Given the description of an element on the screen output the (x, y) to click on. 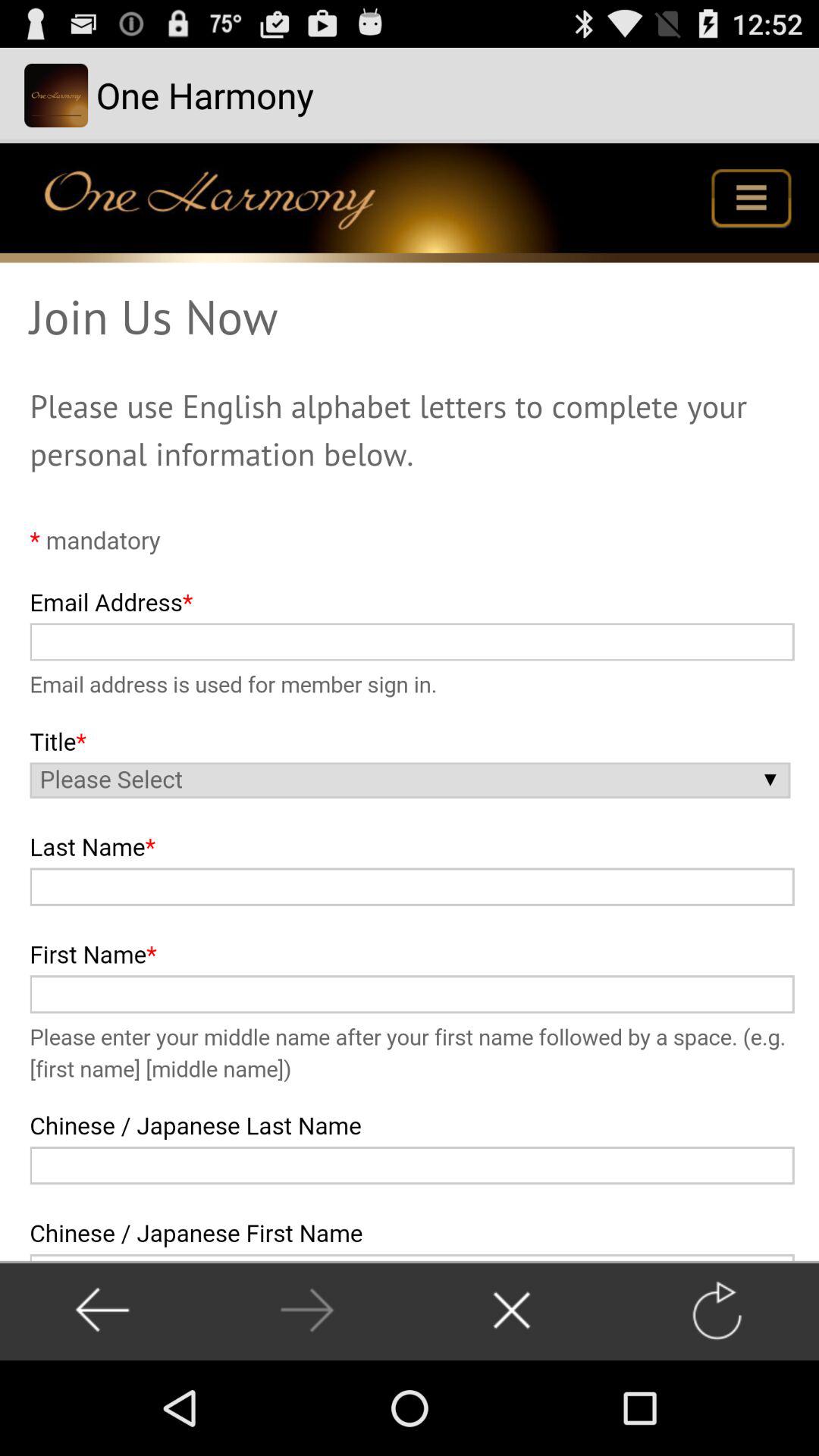
cancel (511, 1310)
